Given the description of an element on the screen output the (x, y) to click on. 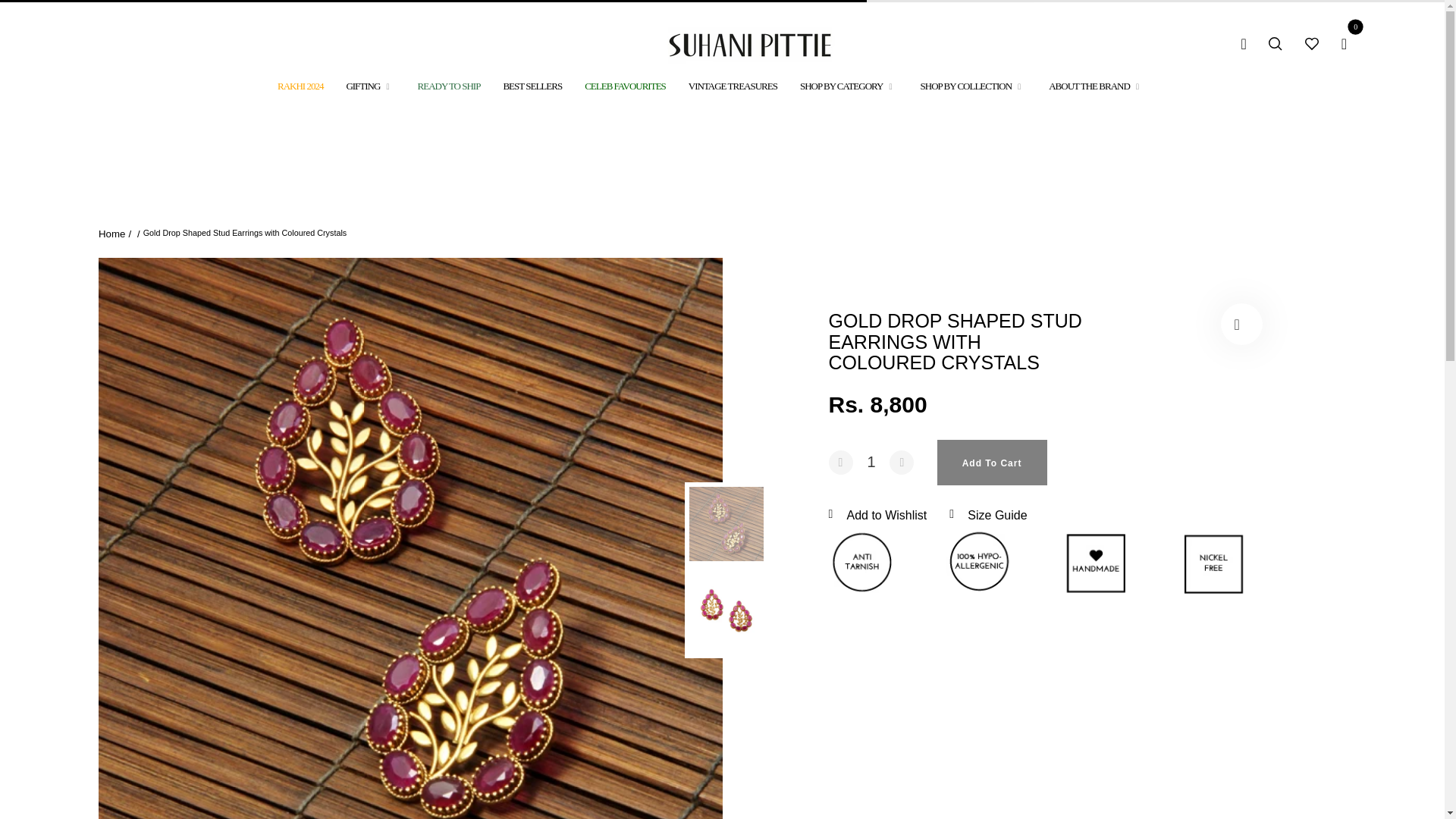
BEST SELLERS (532, 86)
SHOP BY COLLECTION (973, 86)
SHOP BY CATEGORY (848, 86)
VINTAGE TREASURES (732, 86)
READY TO SHIP (448, 86)
GIFTING (370, 86)
1 (871, 461)
CELEB FAVOURITES (625, 86)
RAKHI 2024 (300, 86)
